Given the description of an element on the screen output the (x, y) to click on. 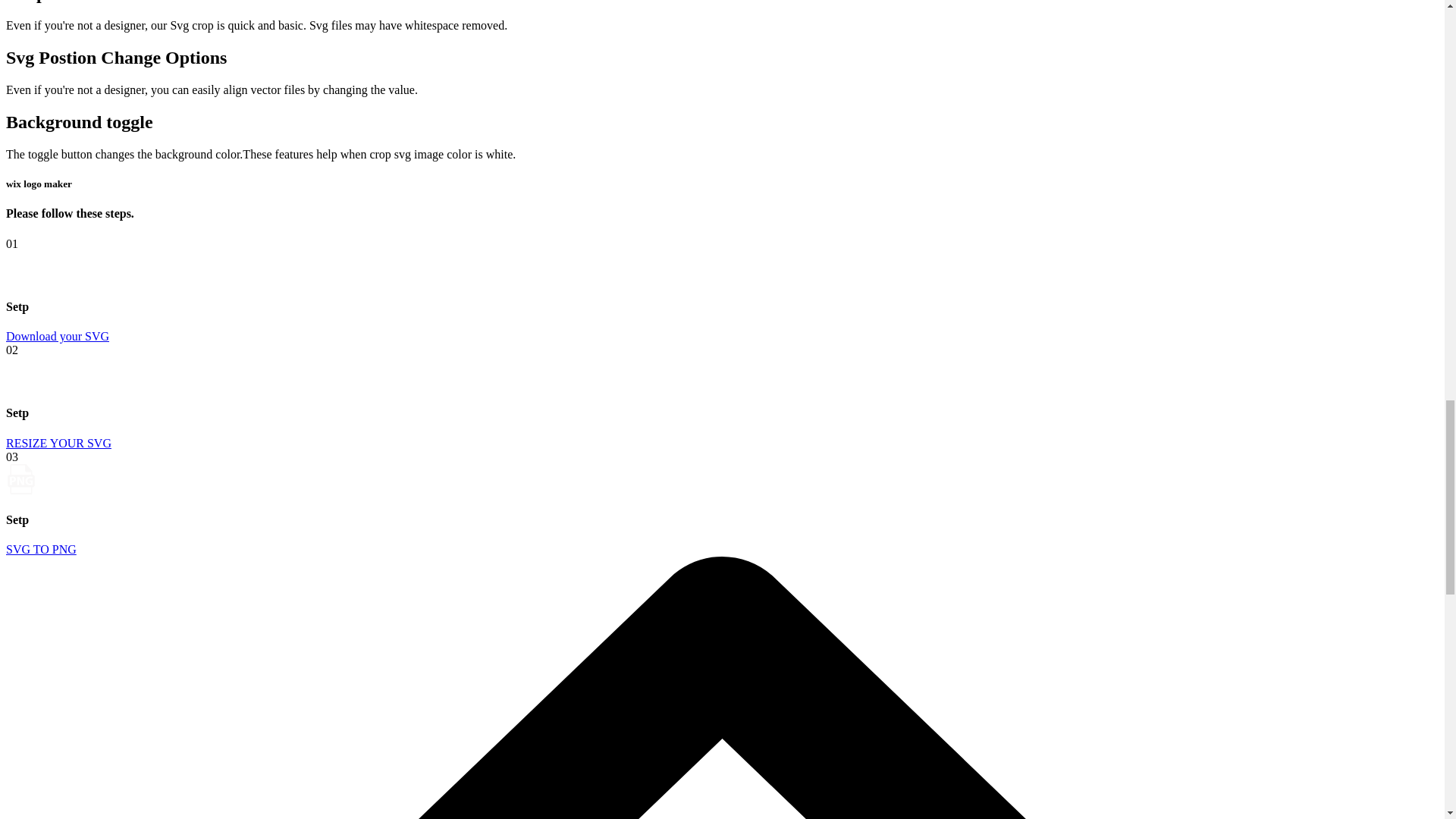
RESIZE YOUR SVG (58, 442)
SVG TO PNG (41, 549)
Download your SVG (57, 336)
